Given the description of an element on the screen output the (x, y) to click on. 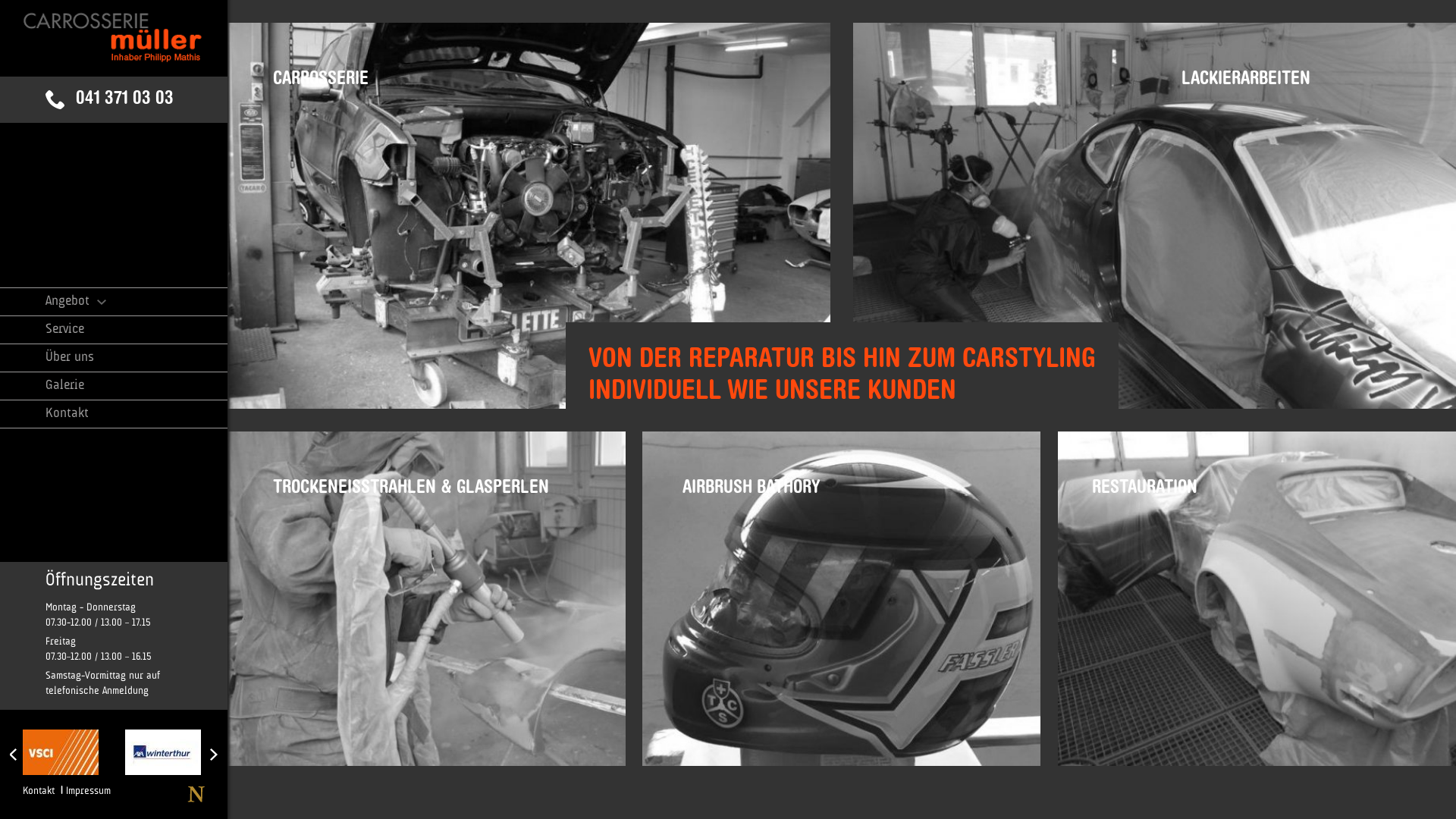
Angebot Element type: text (136, 301)
Galerie Element type: text (136, 385)
Impressum Element type: text (87, 790)
Next Element type: text (213, 754)
Service Element type: text (136, 329)
Kontakt Element type: text (136, 413)
Previous Element type: text (13, 754)
Kontakt Element type: text (38, 790)
